Given the description of an element on the screen output the (x, y) to click on. 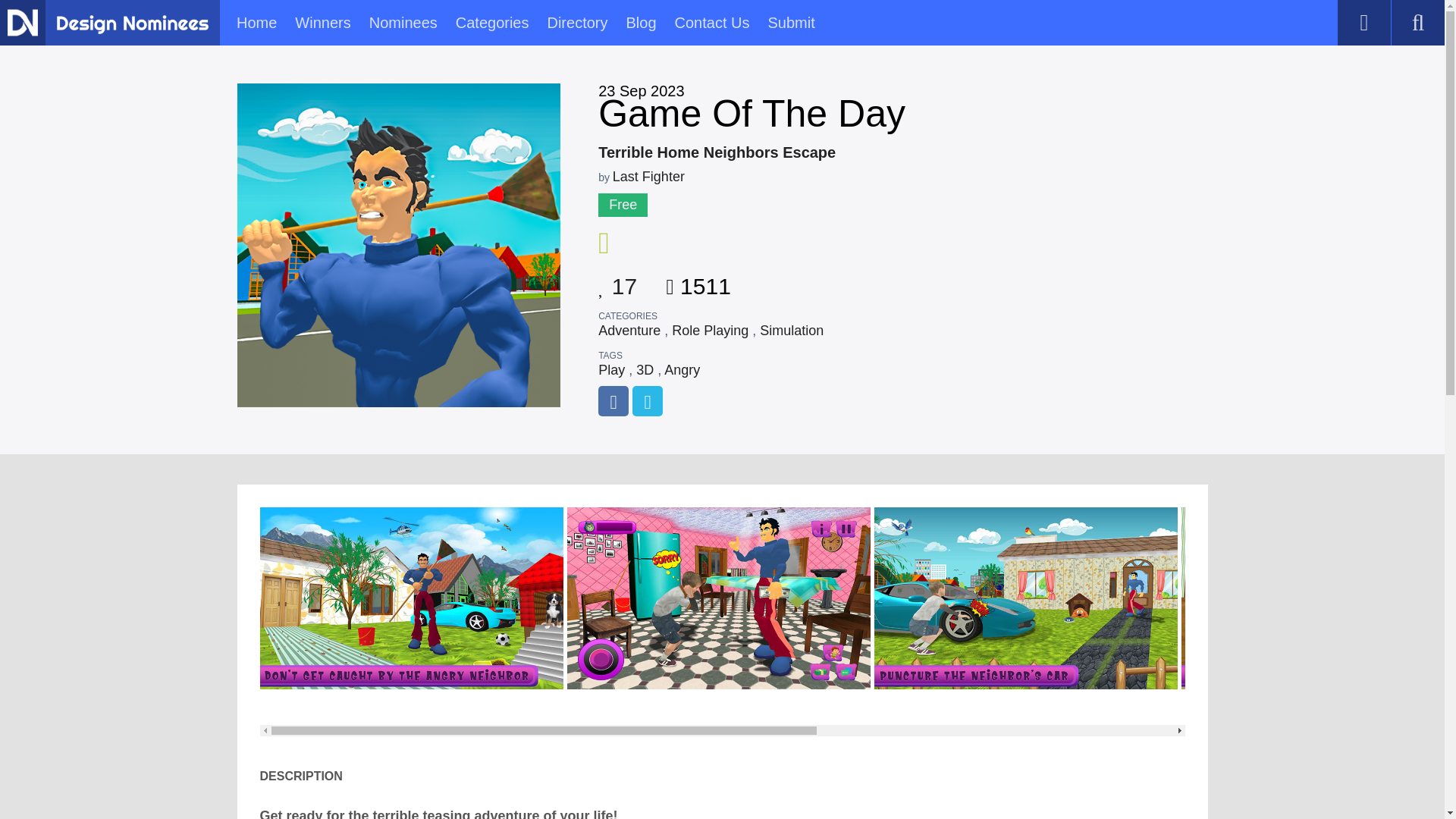
Role Playing (709, 330)
Categories (492, 22)
Winners (322, 22)
Angry (681, 369)
Adventure (629, 330)
3D (644, 369)
Nominees (403, 22)
Play (611, 369)
Simulation (792, 330)
Submit (790, 22)
